Given the description of an element on the screen output the (x, y) to click on. 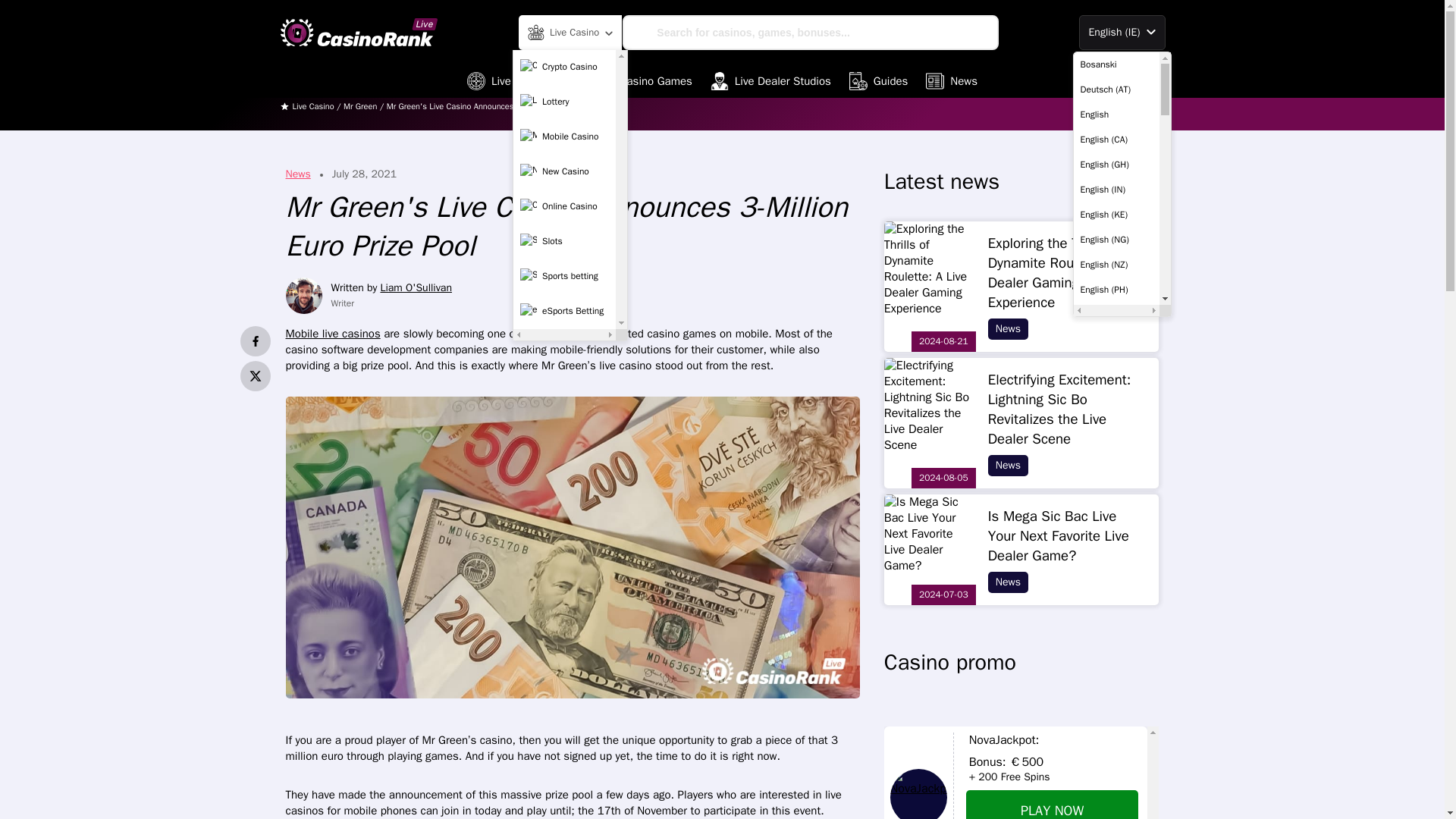
New Casino (564, 172)
Magyar (1116, 664)
Crypto Casino (564, 67)
Mobile Casino (564, 136)
Sports betting (564, 276)
English (1116, 113)
Bosanski (1116, 63)
Slots (564, 241)
eSports Betting (564, 311)
Lottery (564, 102)
